Given the description of an element on the screen output the (x, y) to click on. 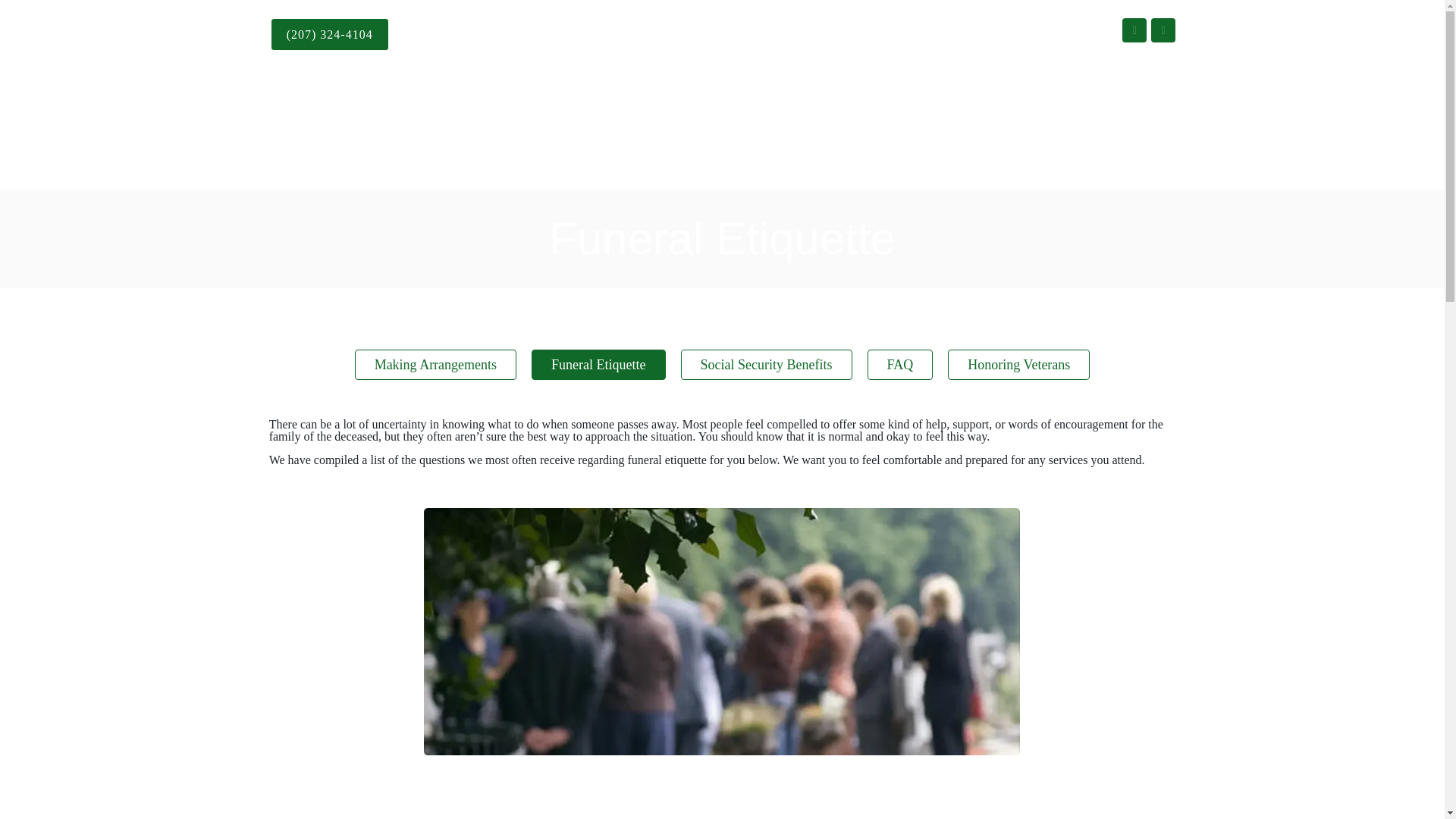
Social Security Benefits (766, 364)
Google (1162, 30)
Facebook (1134, 30)
Funeral Etiquette (598, 364)
Making Arrangements (435, 364)
FAQ (900, 364)
